Given the description of an element on the screen output the (x, y) to click on. 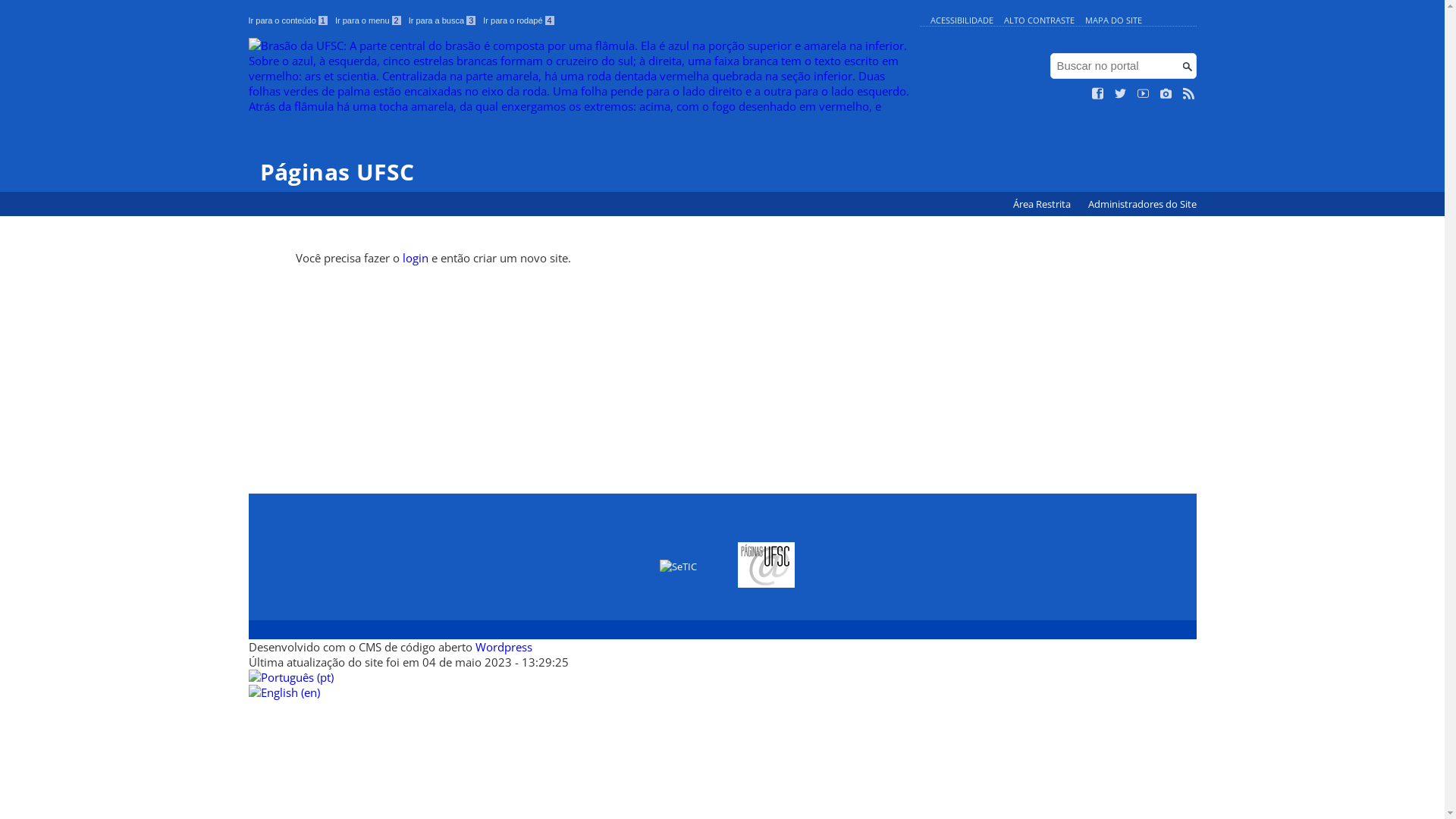
Ir para o menu 2 Element type: text (368, 20)
Veja no Instagram Element type: hover (1166, 93)
Ir para a busca 3 Element type: text (442, 20)
login Element type: text (415, 257)
Administradores do Site Element type: text (1141, 203)
MAPA DO SITE Element type: text (1112, 19)
Wordpress Element type: text (502, 646)
ALTO CONTRASTE Element type: text (1039, 19)
ACESSIBILIDADE Element type: text (960, 19)
Curta no Facebook Element type: hover (1098, 93)
Siga no Twitter Element type: hover (1120, 93)
English (en) Element type: hover (284, 691)
